Given the description of an element on the screen output the (x, y) to click on. 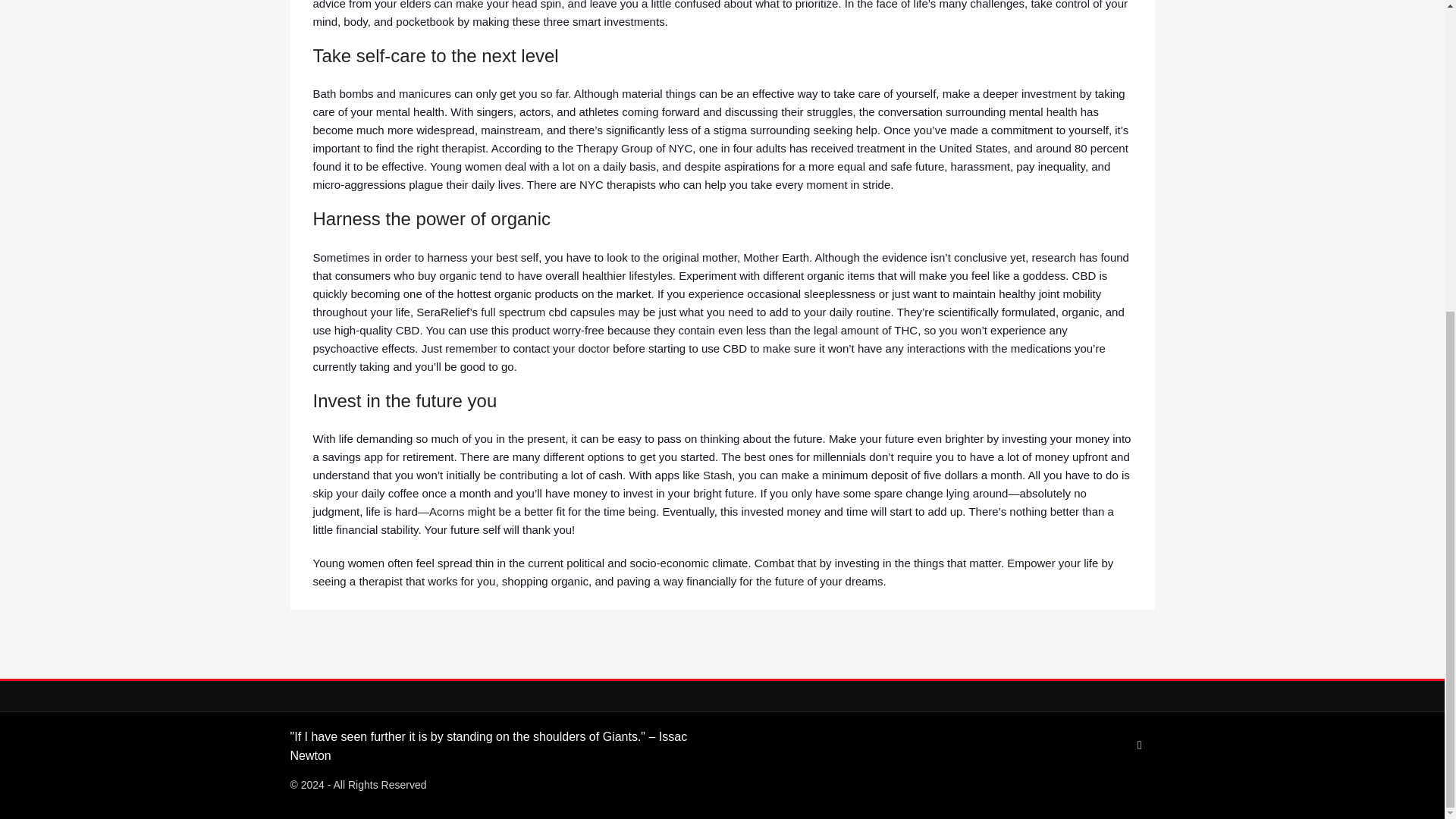
doctor (594, 347)
full spectrum cbd capsules (547, 310)
NYC therapists (617, 184)
Stash (717, 474)
mental health (1043, 111)
Acorns (446, 511)
healthier lifestyles (627, 274)
